Given the description of an element on the screen output the (x, y) to click on. 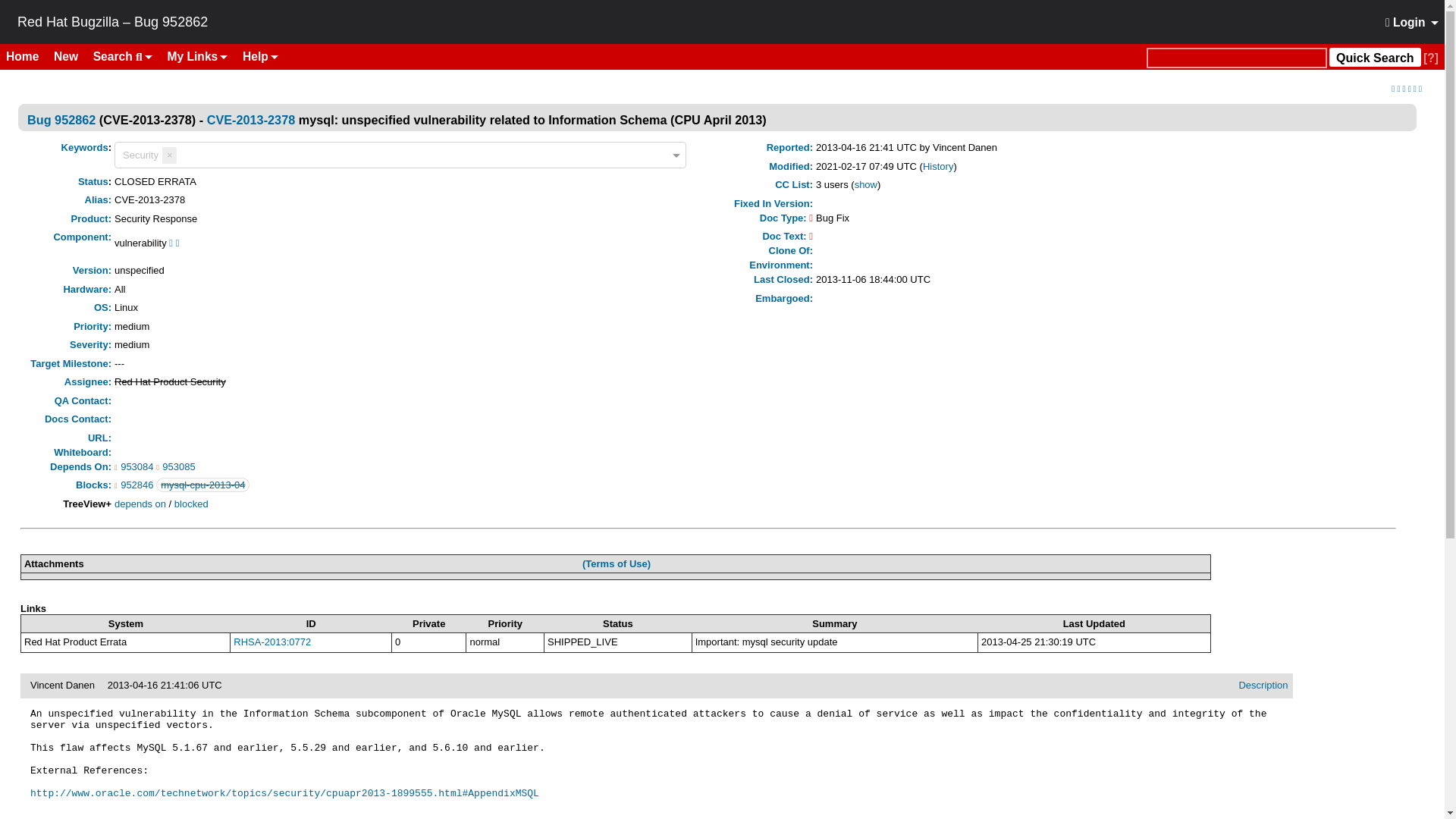
Search (122, 56)
Help (259, 56)
My Links (197, 56)
Quick Search (1236, 57)
Home (28, 56)
Quick Search (1375, 56)
New (72, 56)
